Given the description of an element on the screen output the (x, y) to click on. 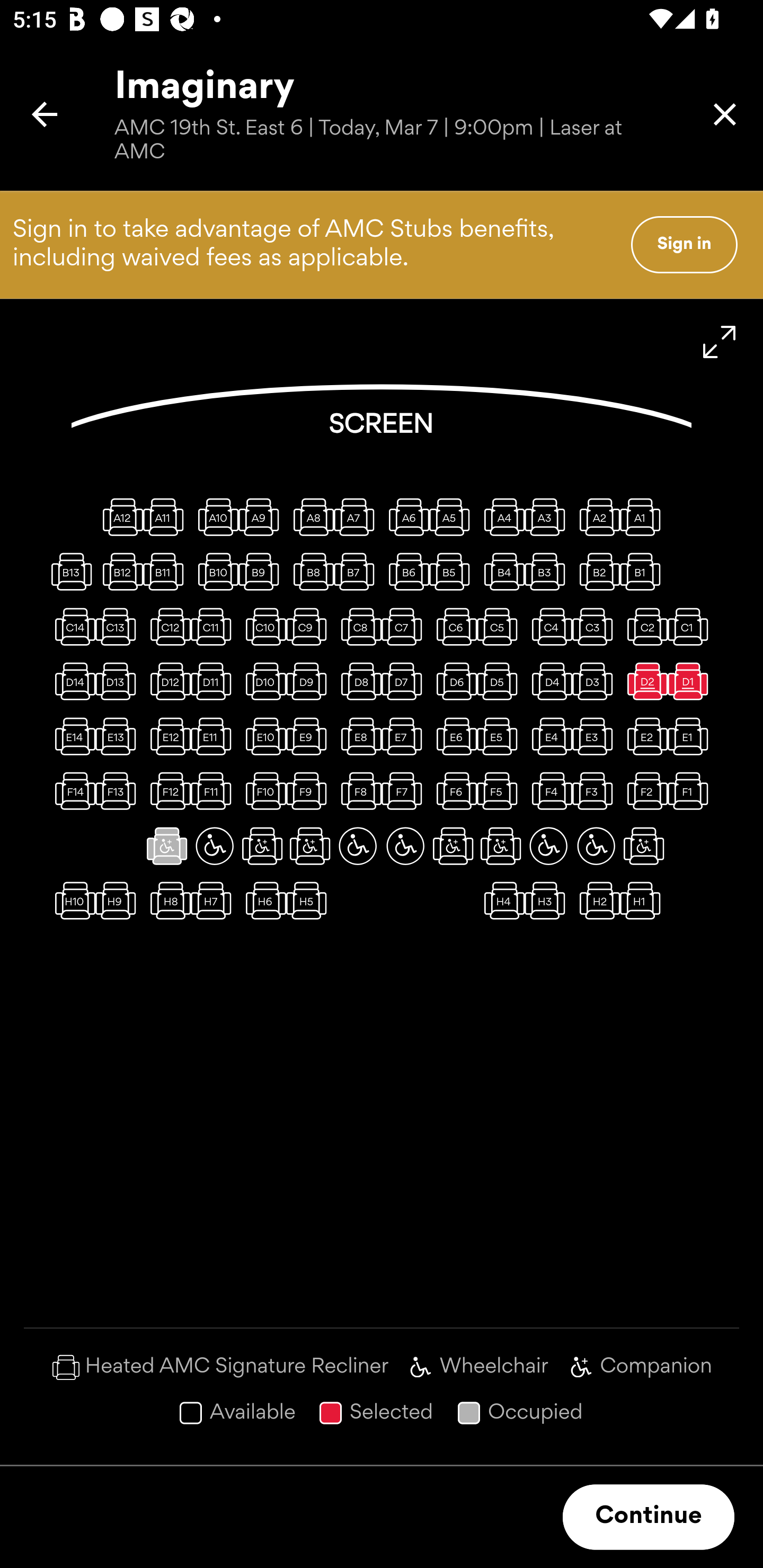
Back (44, 114)
Close (724, 114)
Sign in (684, 244)
Zoom (719, 342)
A12, Regular seat, available (119, 516)
A11, Regular seat, available (166, 516)
A10, Regular seat, available (214, 516)
A9, Regular seat, available (262, 516)
A8, Regular seat, available (310, 516)
A7, Regular seat, available (357, 516)
A6, Regular seat, available (404, 516)
A5, Regular seat, available (452, 516)
A4, Regular seat, available (500, 516)
A3, Regular seat, available (548, 516)
A2, Regular seat, available (595, 516)
A1, Regular seat, available (643, 516)
B13, Regular seat, available (71, 571)
B12, Regular seat, available (119, 571)
B11, Regular seat, available (166, 571)
B10, Regular seat, available (214, 571)
B9, Regular seat, available (262, 571)
B8, Regular seat, available (310, 571)
B7, Regular seat, available (357, 571)
B6, Regular seat, available (404, 571)
B5, Regular seat, available (452, 571)
B4, Regular seat, available (500, 571)
B3, Regular seat, available (548, 571)
B2, Regular seat, available (595, 571)
B1, Regular seat, available (643, 571)
C14, Regular seat, available (71, 625)
C13, Regular seat, available (119, 625)
C12, Regular seat, available (166, 625)
C11, Regular seat, available (214, 625)
C10, Regular seat, available (262, 625)
C9, Regular seat, available (310, 625)
C8, Regular seat, available (357, 625)
C7, Regular seat, available (404, 625)
C6, Regular seat, available (452, 625)
C5, Regular seat, available (500, 625)
C4, Regular seat, available (548, 625)
C3, Regular seat, available (595, 625)
C2, Regular seat, available (643, 625)
C1, Regular seat, available (691, 625)
D14, Regular seat, available (71, 680)
D13, Regular seat, available (119, 680)
D12, Regular seat, available (166, 680)
D11, Regular seat, available (214, 680)
D10, Regular seat, available (262, 680)
D9, Regular seat, available (310, 680)
D8, Regular seat, available (357, 680)
D7, Regular seat, available (404, 680)
D6, Regular seat, available (452, 680)
D5, Regular seat, available (500, 680)
D4, Regular seat, available (548, 680)
D3, Regular seat, available (595, 680)
D2, Regular seat, selected (643, 680)
D1, Regular seat, selected (691, 680)
E14, Regular seat, available (71, 735)
E13, Regular seat, available (119, 735)
E12, Regular seat, available (166, 735)
E11, Regular seat, available (214, 735)
E10, Regular seat, available (262, 735)
E9, Regular seat, available (310, 735)
E8, Regular seat, available (357, 735)
E7, Regular seat, available (404, 735)
E6, Regular seat, available (452, 735)
E5, Regular seat, available (500, 735)
E4, Regular seat, available (548, 735)
E3, Regular seat, available (595, 735)
E2, Regular seat, available (643, 735)
E1, Regular seat, available (691, 735)
F14, Regular seat, available (71, 790)
F13, Regular seat, available (119, 790)
F12, Regular seat, available (166, 790)
F11, Regular seat, available (214, 790)
F10, Regular seat, available (262, 790)
F9, Regular seat, available (310, 790)
F8, Regular seat, available (357, 790)
F7, Regular seat, available (404, 790)
F6, Regular seat, available (452, 790)
F5, Regular seat, available (500, 790)
F4, Regular seat, available (548, 790)
F3, Regular seat, available (595, 790)
F2, Regular seat, available (643, 790)
F1, Regular seat, available (691, 790)
G10, Wheelchair space, available (214, 845)
G9, Wheelchair companion seat, available (262, 845)
G8, Wheelchair companion seat, available (310, 845)
G7, Wheelchair space, available (357, 845)
G6, Wheelchair space, available (404, 845)
G5, Wheelchair companion seat, available (452, 845)
G4, Wheelchair companion seat, available (500, 845)
G3, Wheelchair space, available (548, 845)
G2, Wheelchair space, available (595, 845)
G1, Wheelchair companion seat, available (643, 845)
H10, Regular seat, available (71, 900)
H9, Regular seat, available (119, 900)
H8, Regular seat, available (166, 900)
H7, Regular seat, available (214, 900)
H6, Regular seat, available (262, 900)
H5, Regular seat, available (310, 900)
H4, Regular seat, available (500, 900)
H3, Regular seat, available (548, 900)
H2, Regular seat, available (595, 900)
H1, Regular seat, available (643, 900)
Continue (648, 1516)
